Given the description of an element on the screen output the (x, y) to click on. 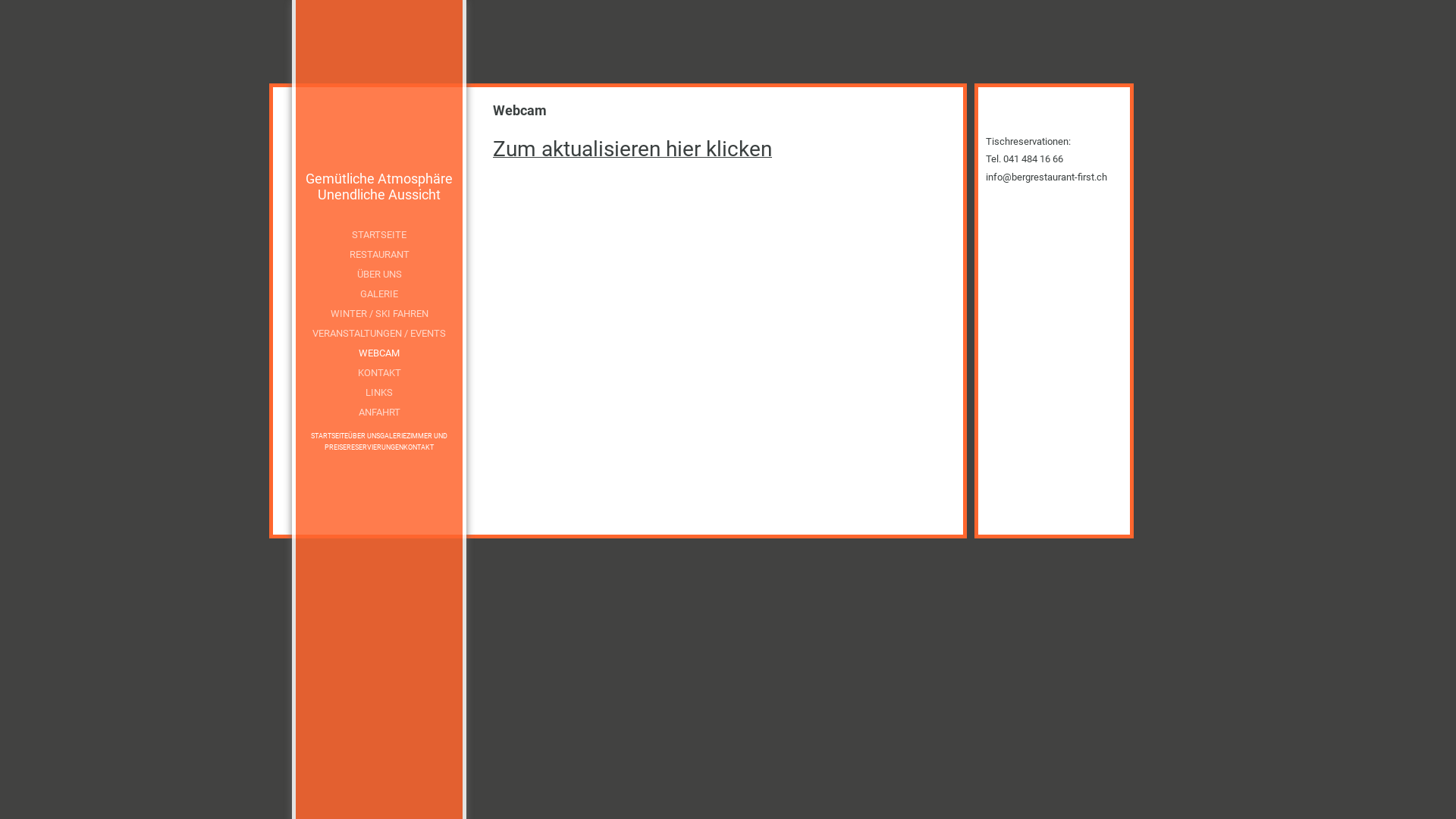
Zum aktualisieren hier klicken Element type: text (631, 152)
WEBCAM Element type: text (378, 352)
KONTAKT Element type: text (378, 372)
VERANSTALTUNGEN / EVENTS Element type: text (378, 332)
  Element type: text (378, 106)
LINKS Element type: text (378, 391)
ZIMMER UND PREISE Element type: text (385, 441)
WINTER / SKI FAHREN Element type: text (378, 313)
STARTSEITE Element type: text (329, 435)
KONTAKT Element type: text (418, 447)
RESTAURANT Element type: text (378, 253)
GALERIE Element type: text (378, 293)
GALERIE Element type: text (392, 435)
RESERVIERUNGEN Element type: text (374, 447)
STARTSEITE Element type: text (378, 234)
ANFAHRT Element type: text (378, 411)
